Given the description of an element on the screen output the (x, y) to click on. 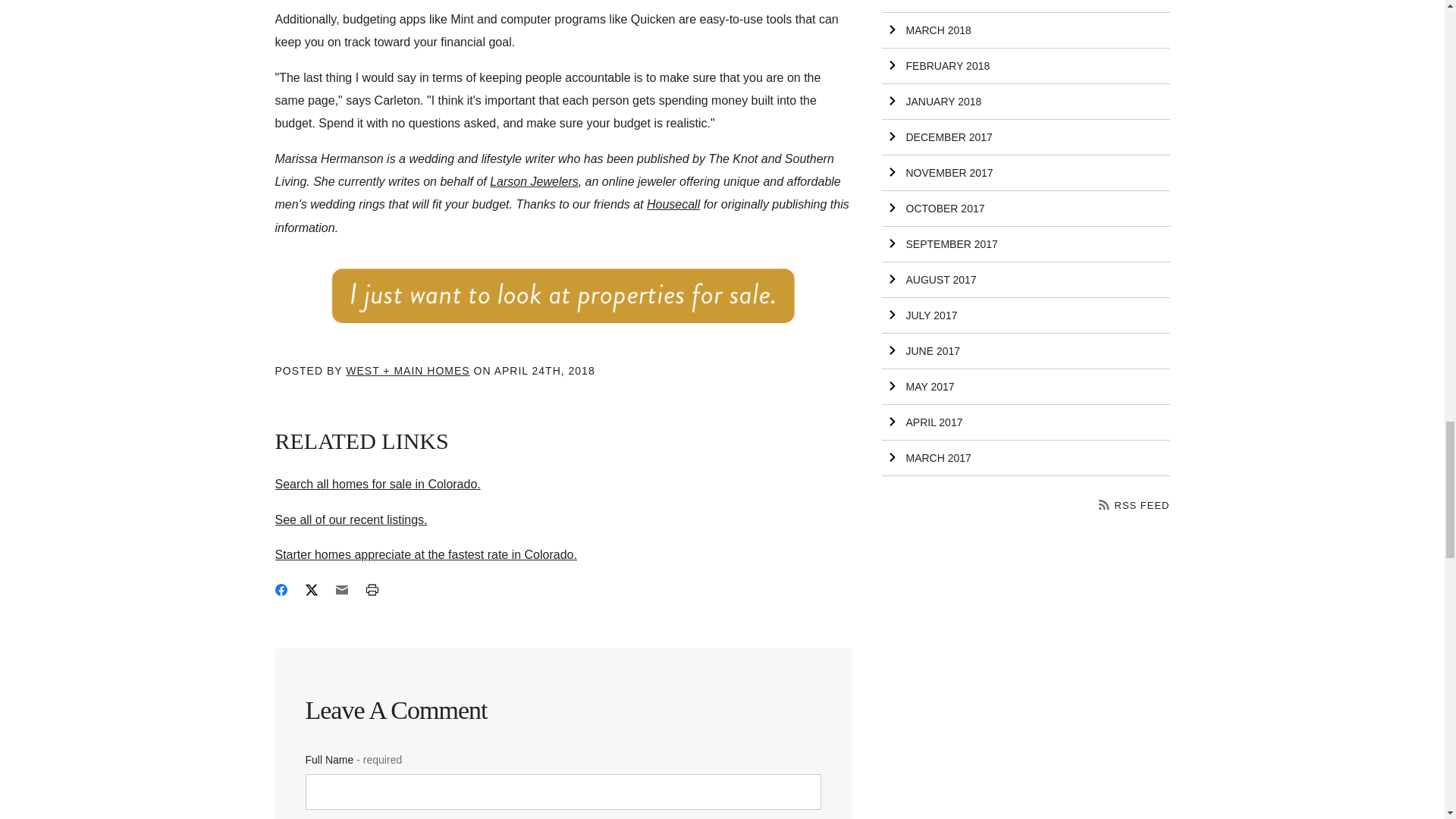
Starter homes appreciate at the fastest rate in Colorado. (425, 554)
Search all homes for sale in Colorado. (377, 483)
RSS FEED (1134, 505)
See all of our recent listings. (350, 519)
